Given the description of an element on the screen output the (x, y) to click on. 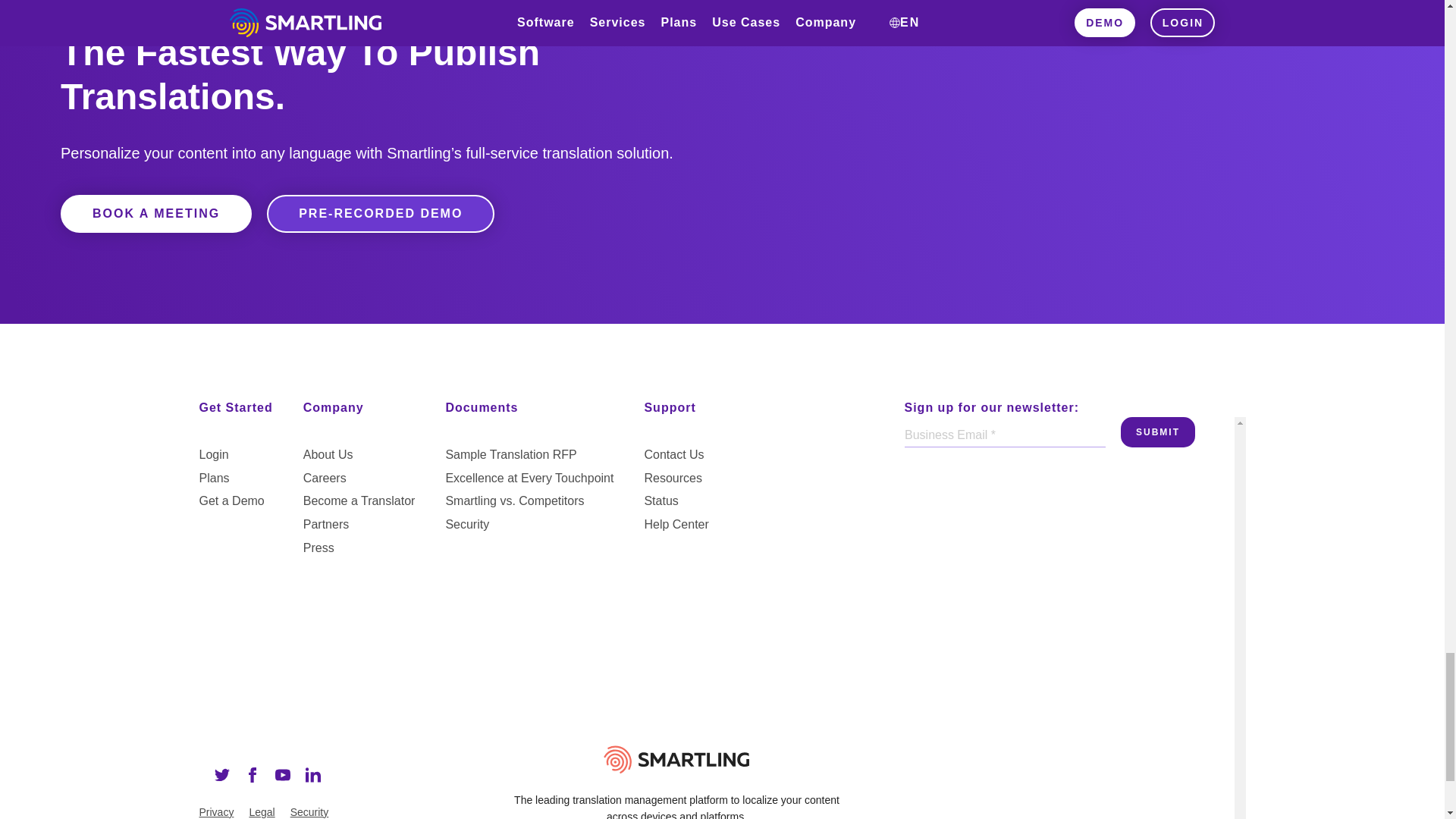
Pardot Form (1068, 473)
